Given the description of an element on the screen output the (x, y) to click on. 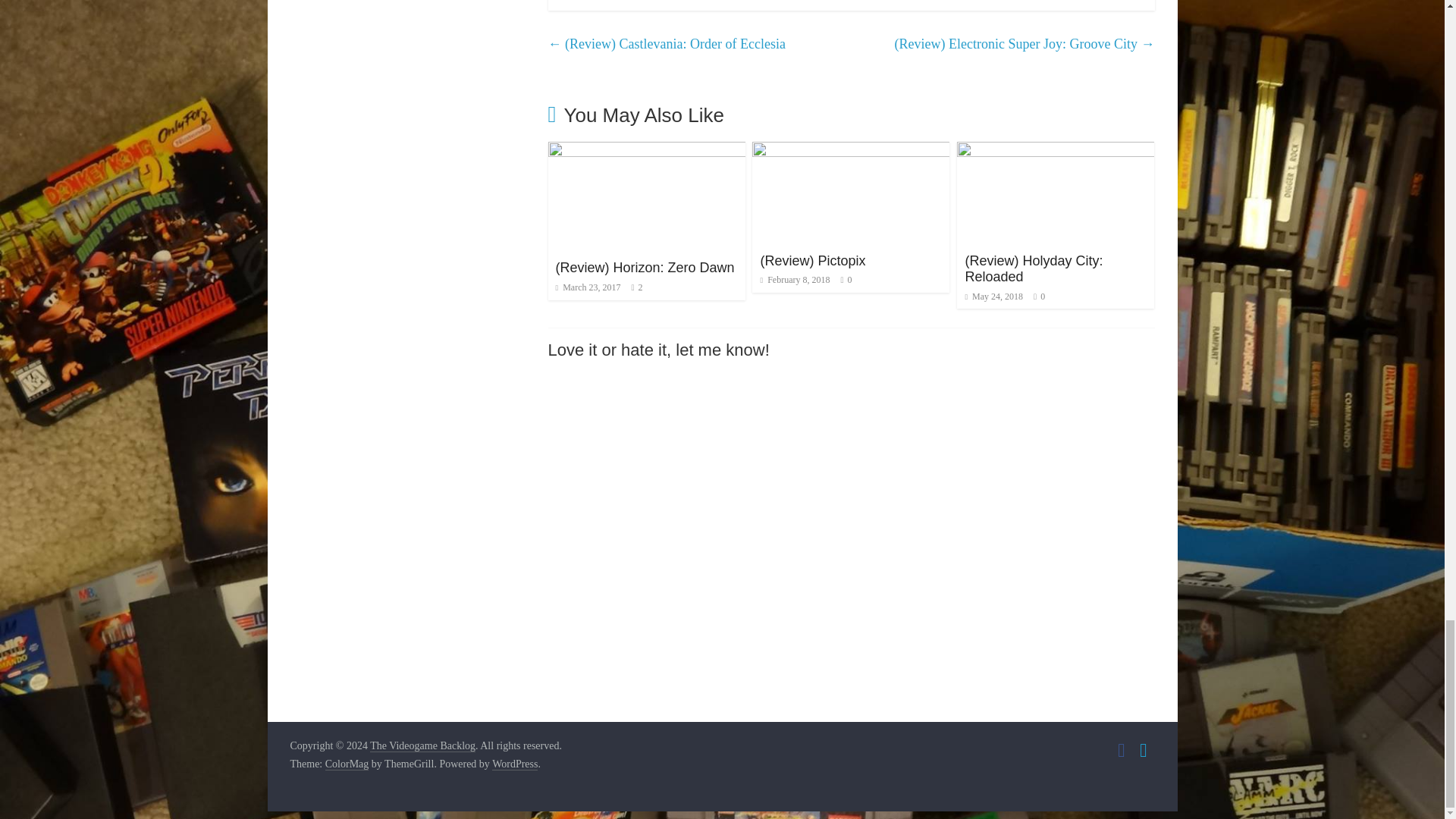
14:49 (588, 286)
